Given the description of an element on the screen output the (x, y) to click on. 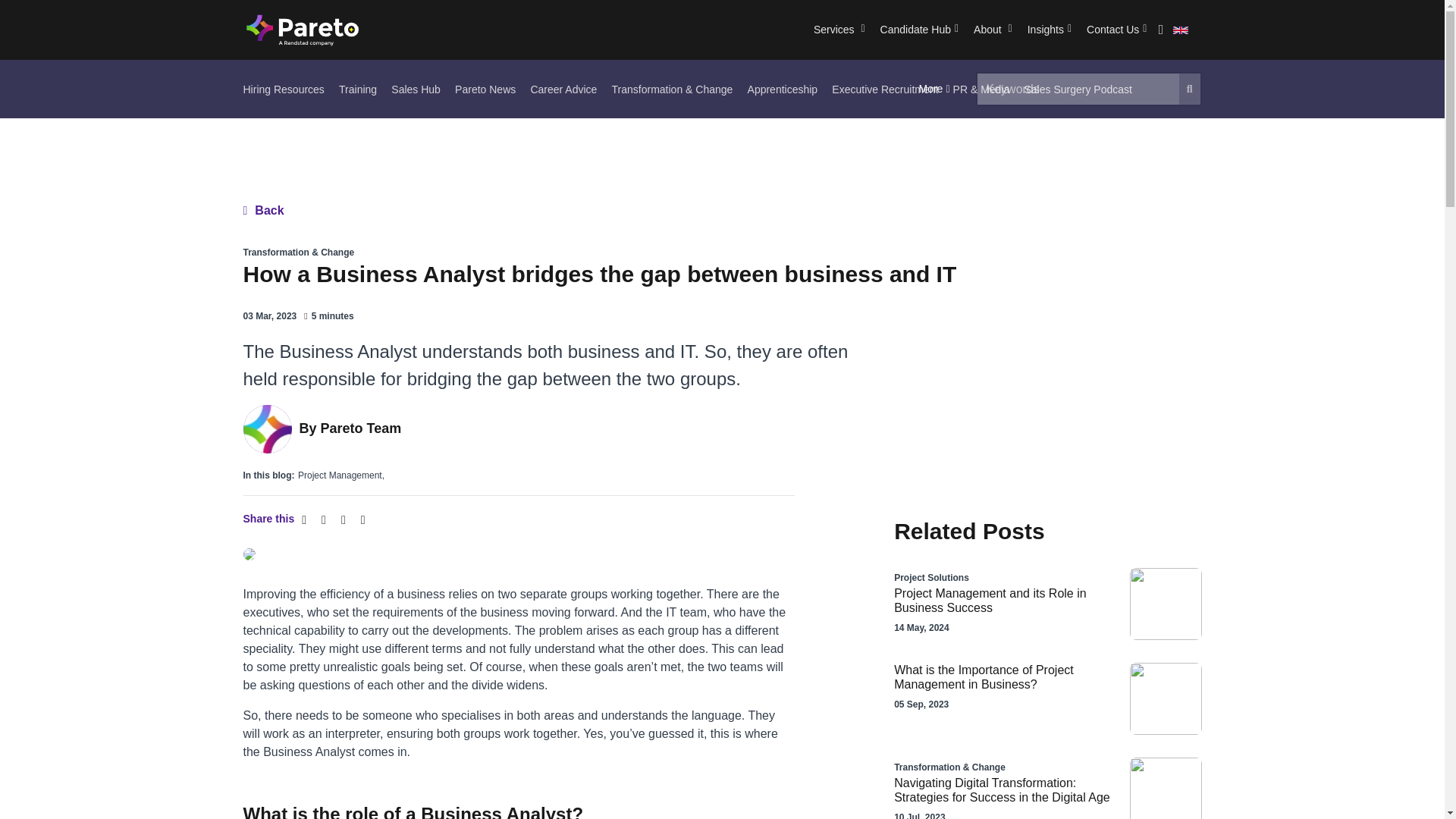
Candidate Hub (919, 29)
About (993, 29)
Services (839, 29)
